Given the description of an element on the screen output the (x, y) to click on. 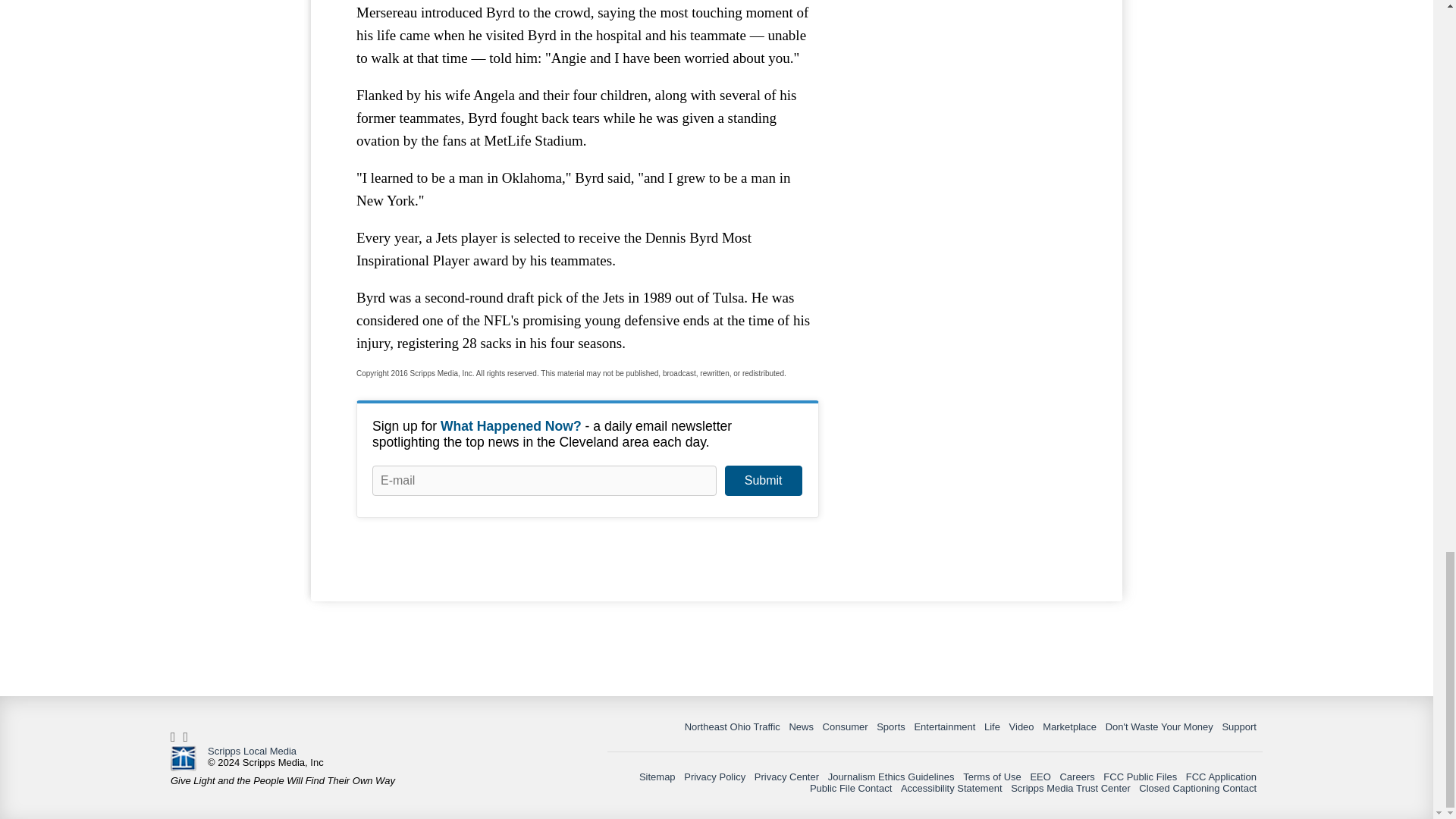
Submit (763, 481)
